Given the description of an element on the screen output the (x, y) to click on. 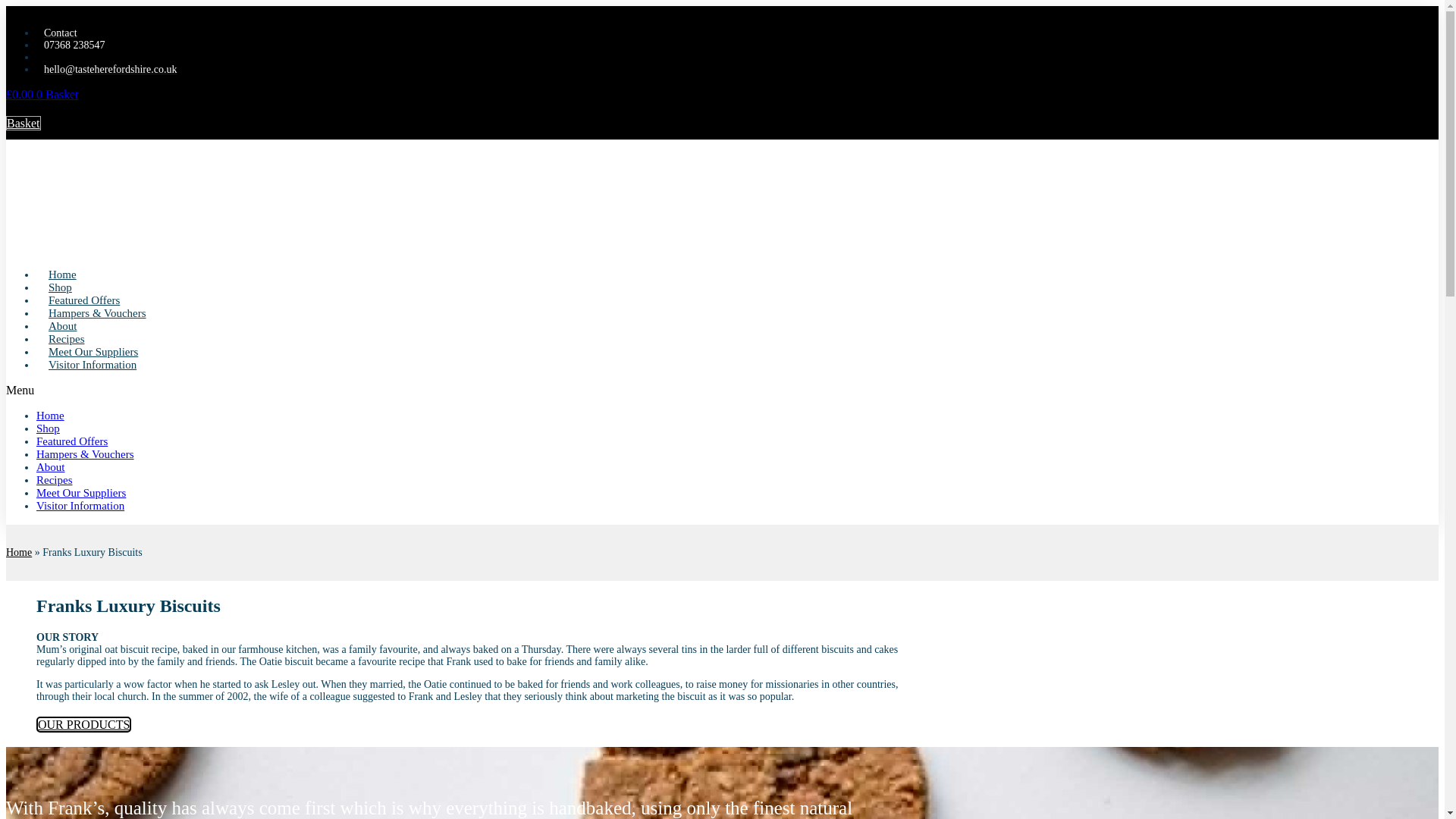
Recipes (66, 338)
Home (18, 552)
Home (50, 415)
About (50, 467)
Meet Our Suppliers (92, 351)
Meet Our Suppliers (80, 492)
Visitor Information (79, 505)
Recipes (53, 480)
OUR PRODUCTS (83, 724)
Visitor Information (92, 364)
Home (62, 274)
Basket (22, 123)
About (62, 326)
Shop (47, 428)
Contact (56, 32)
